Given the description of an element on the screen output the (x, y) to click on. 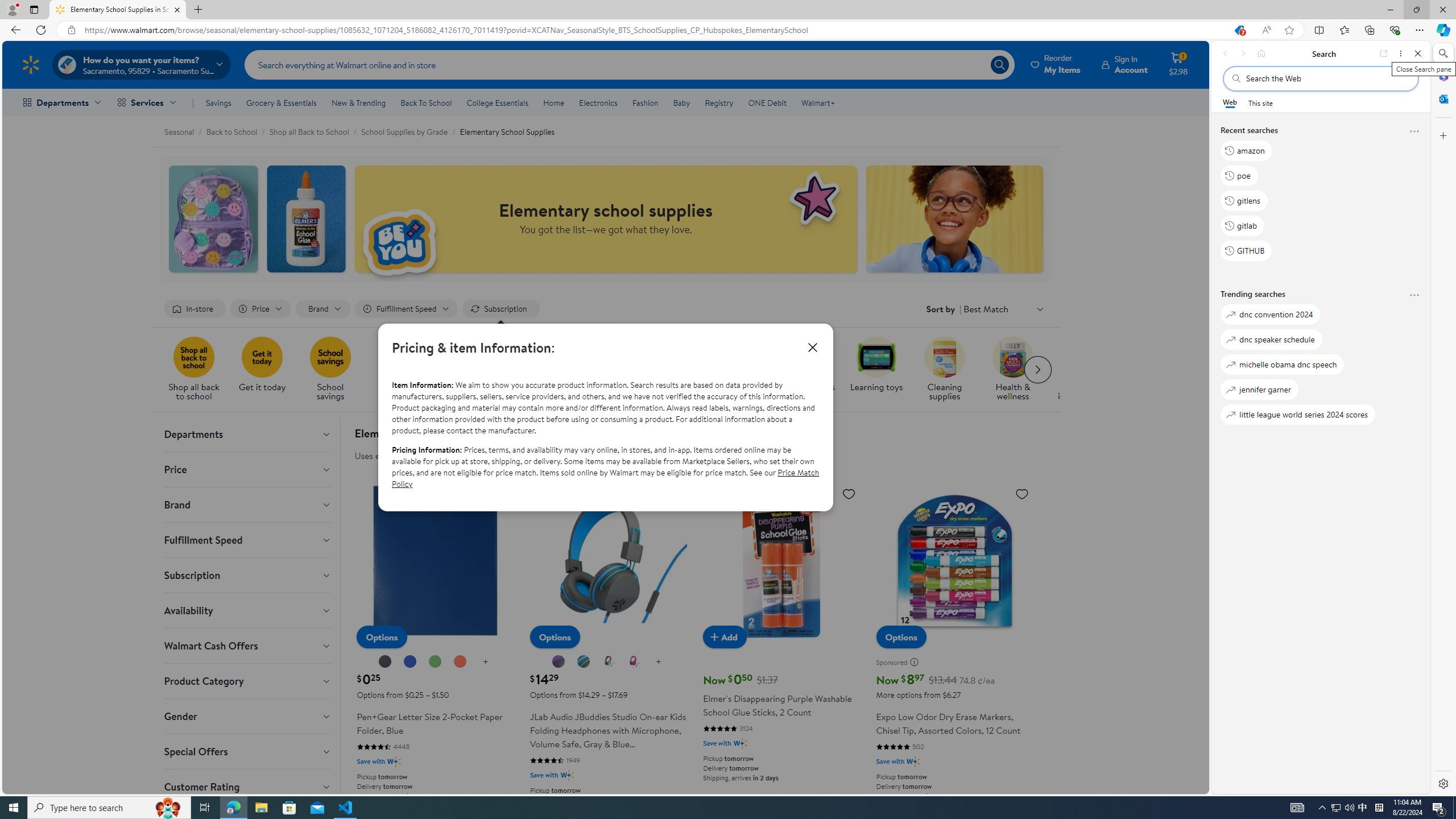
Price Match Policy (605, 477)
Open link in new tab (1383, 53)
gitlens (1244, 200)
Close Search pane (1442, 53)
michelle obama dnc speech (1281, 364)
This site has coupons! Shopping in Microsoft Edge, 7 (1239, 29)
GITHUB (1246, 250)
